Given the description of an element on the screen output the (x, y) to click on. 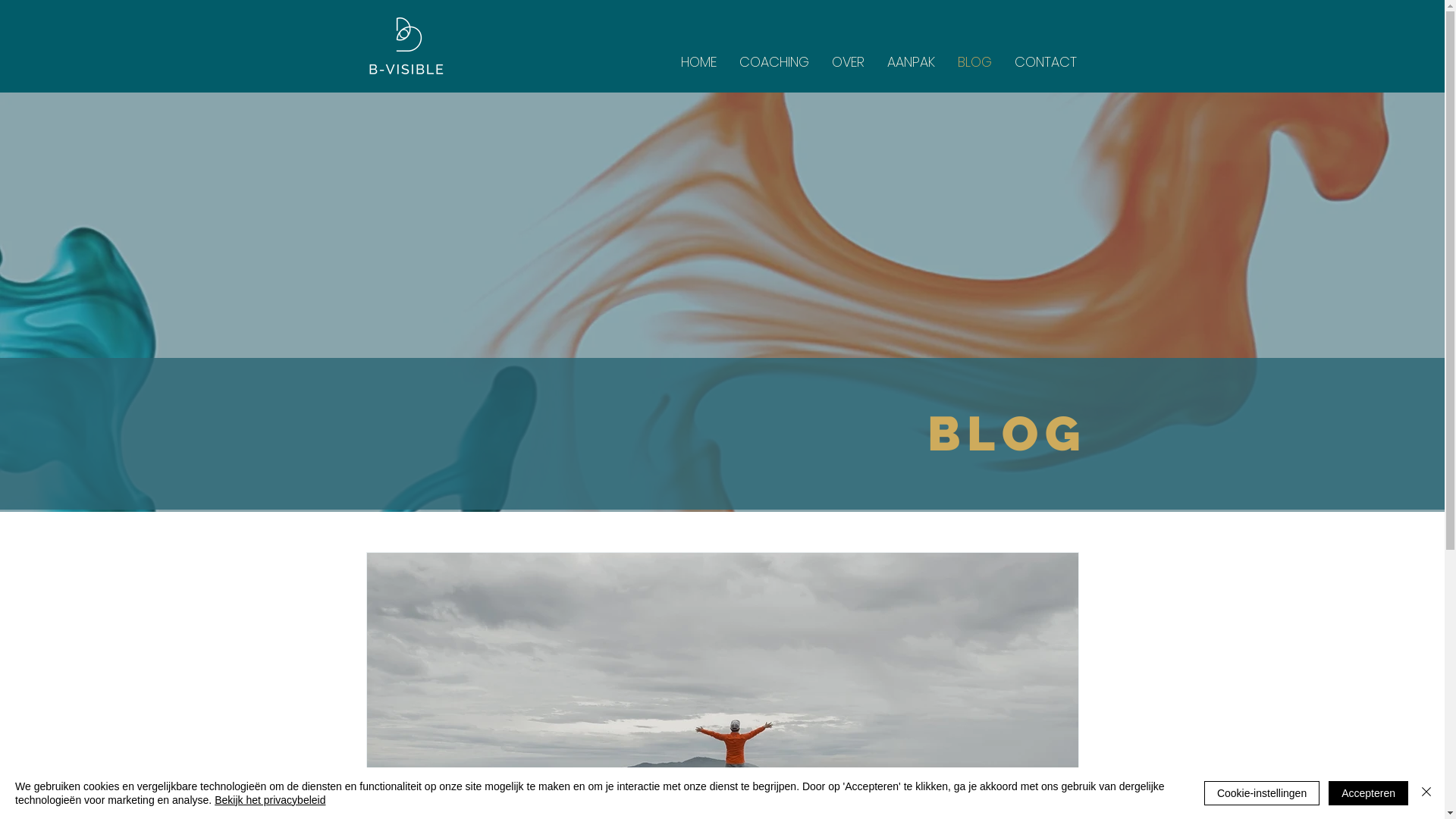
Accepteren Element type: text (1368, 793)
CONTACT Element type: text (1044, 62)
BLOG Element type: text (974, 62)
Bekijk het privacybeleid Element type: text (269, 799)
AANPAK Element type: text (910, 62)
HOME Element type: text (697, 62)
OVER Element type: text (847, 62)
COACHING Element type: text (774, 62)
Cookie-instellingen Element type: text (1261, 793)
